Given the description of an element on the screen output the (x, y) to click on. 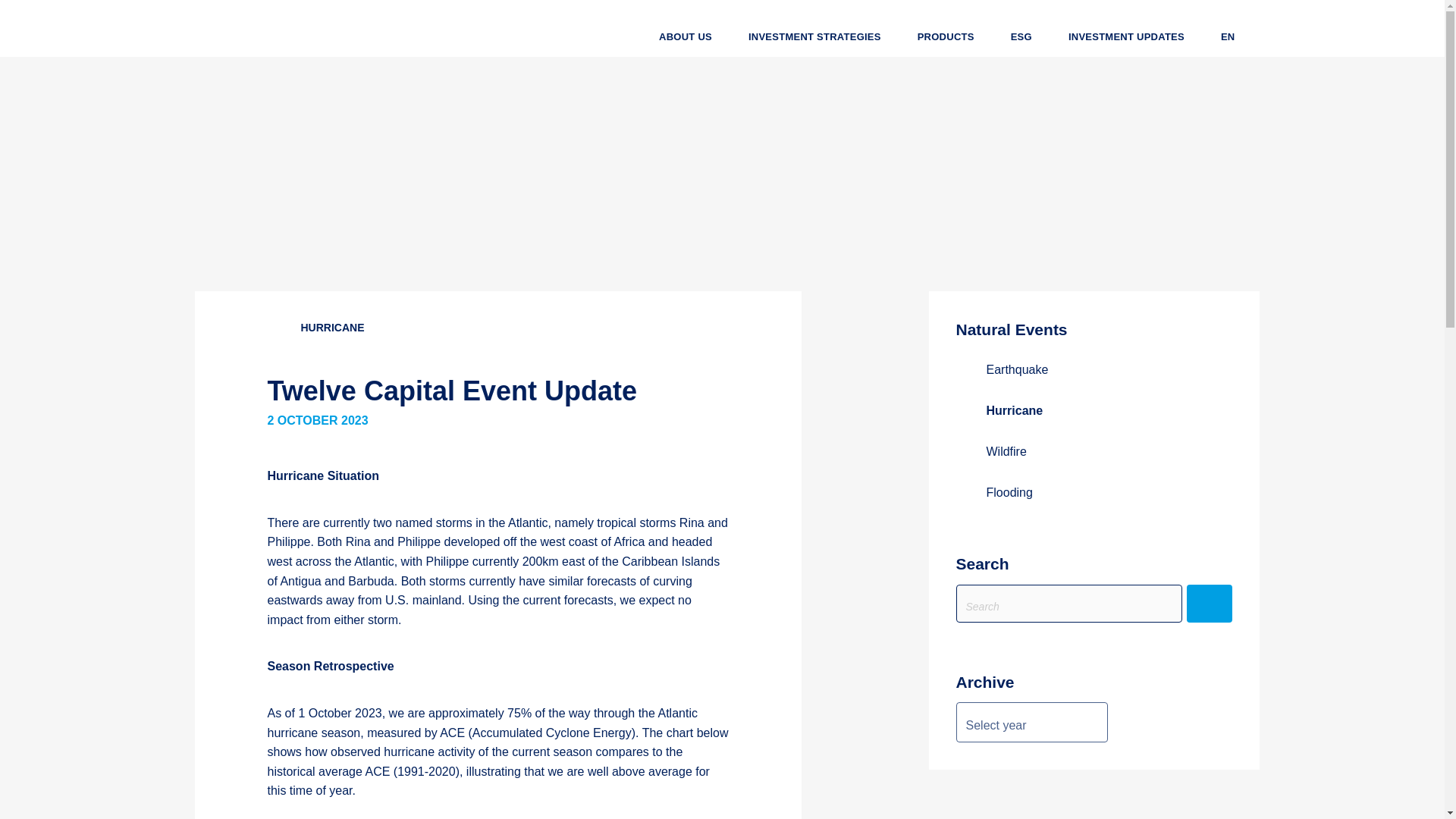
Flooding (1093, 492)
ABOUT US (685, 36)
Hurricane (1093, 410)
ESG (1020, 36)
INVESTMENT STRATEGIES (814, 36)
HURRICANE (315, 327)
PRODUCTS (945, 36)
INVESTMENT UPDATES (1125, 36)
Earthquake (1093, 369)
Wildfire (1093, 451)
